Given the description of an element on the screen output the (x, y) to click on. 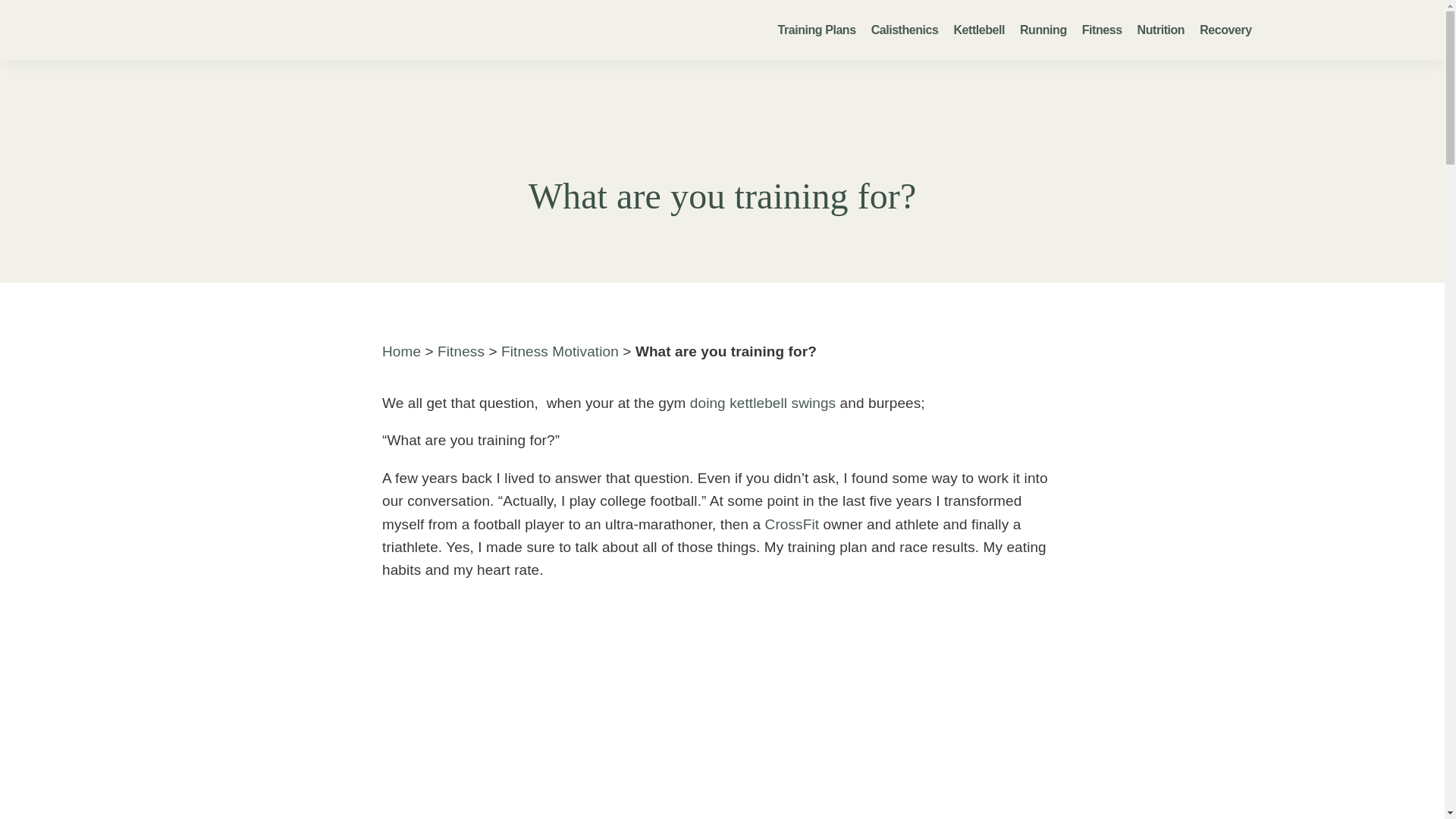
Kettlebell (978, 30)
Fitness (1101, 30)
Running (1043, 30)
Recovery (1224, 30)
Nutrition (1161, 30)
Training Plans (816, 30)
Calisthenics (904, 30)
